Given the description of an element on the screen output the (x, y) to click on. 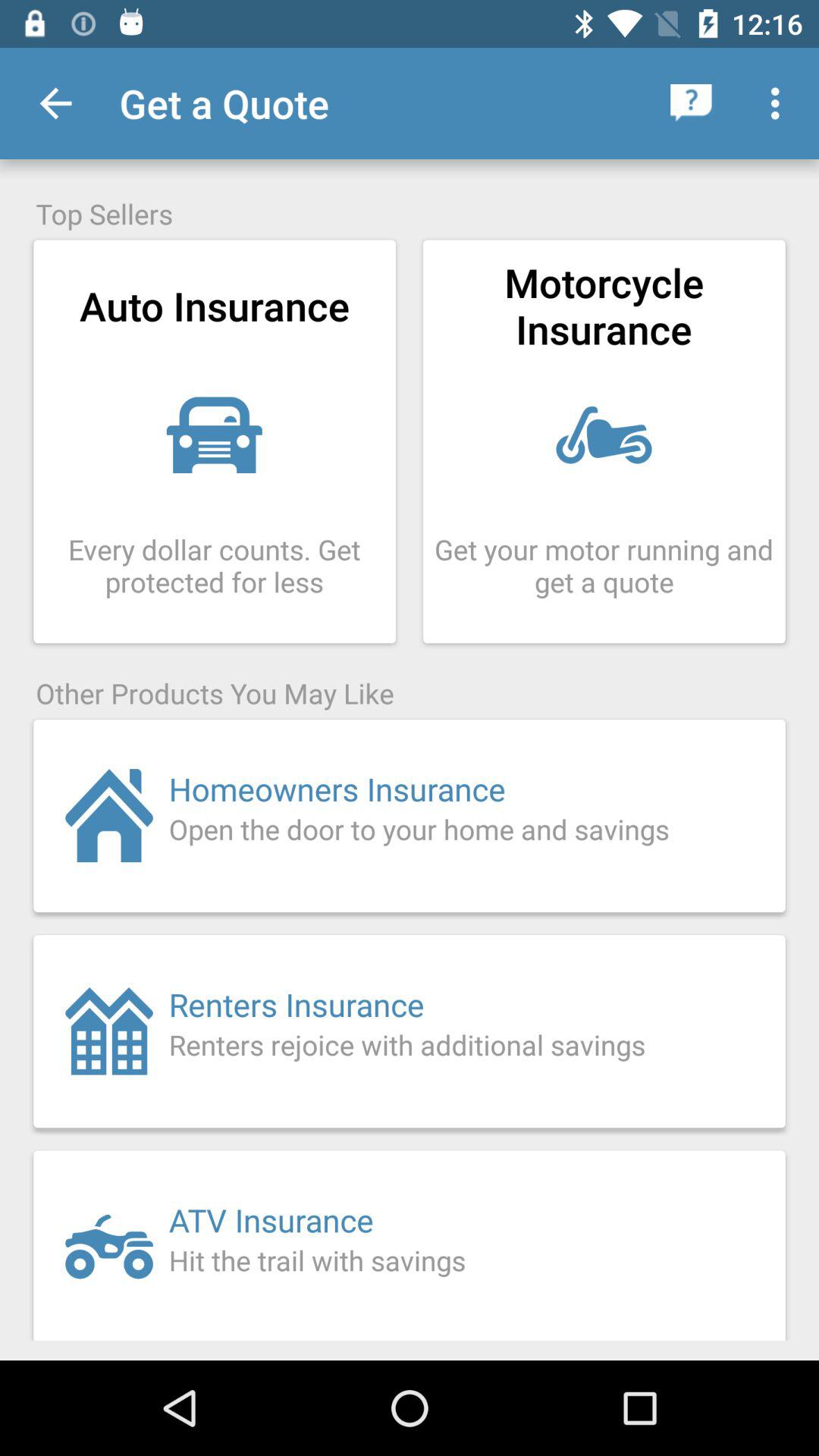
select the app to the left of get a quote app (55, 103)
